Given the description of an element on the screen output the (x, y) to click on. 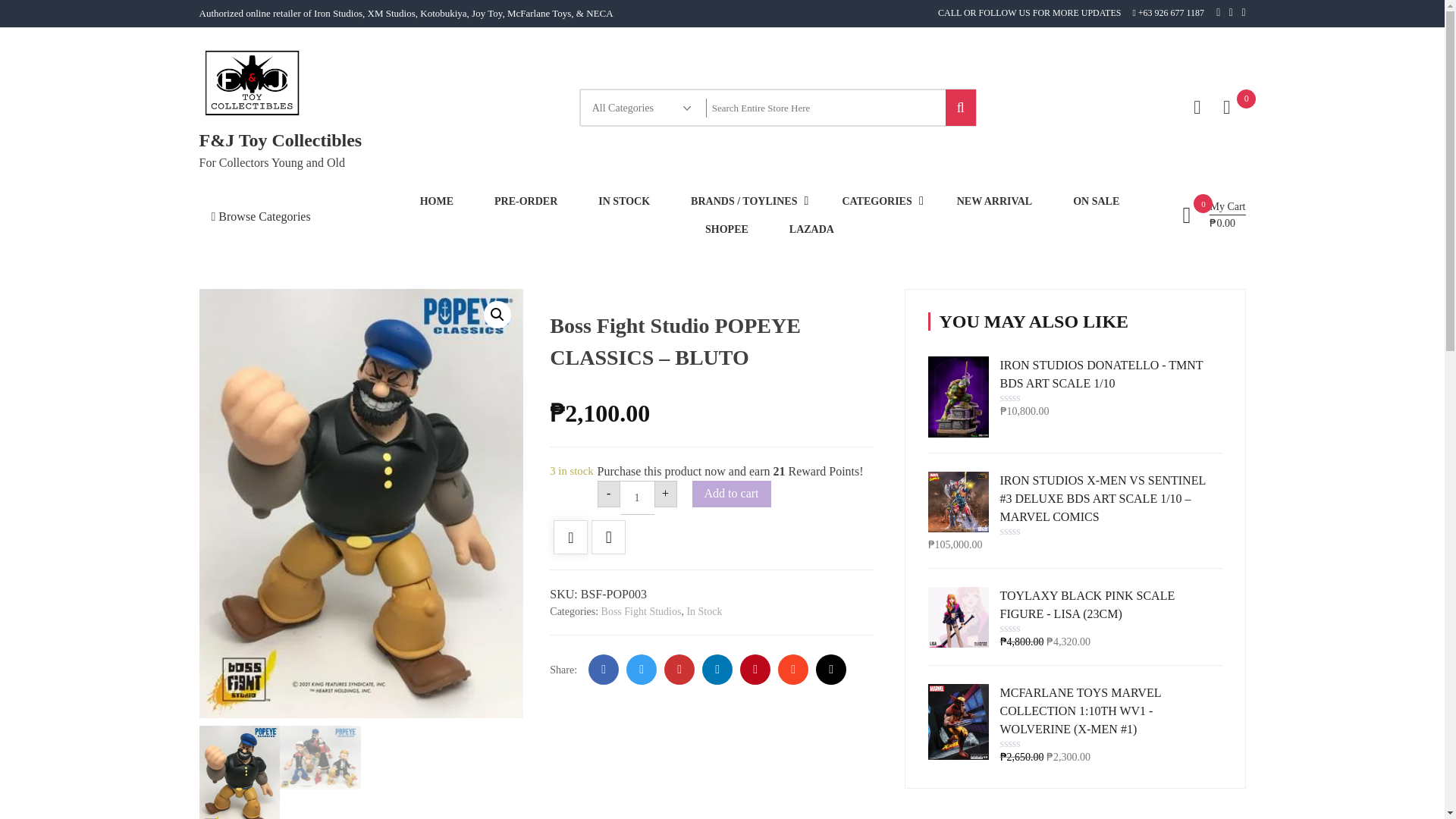
1 (636, 497)
Qty (636, 497)
Add to Wishlist (570, 538)
